Given the description of an element on the screen output the (x, y) to click on. 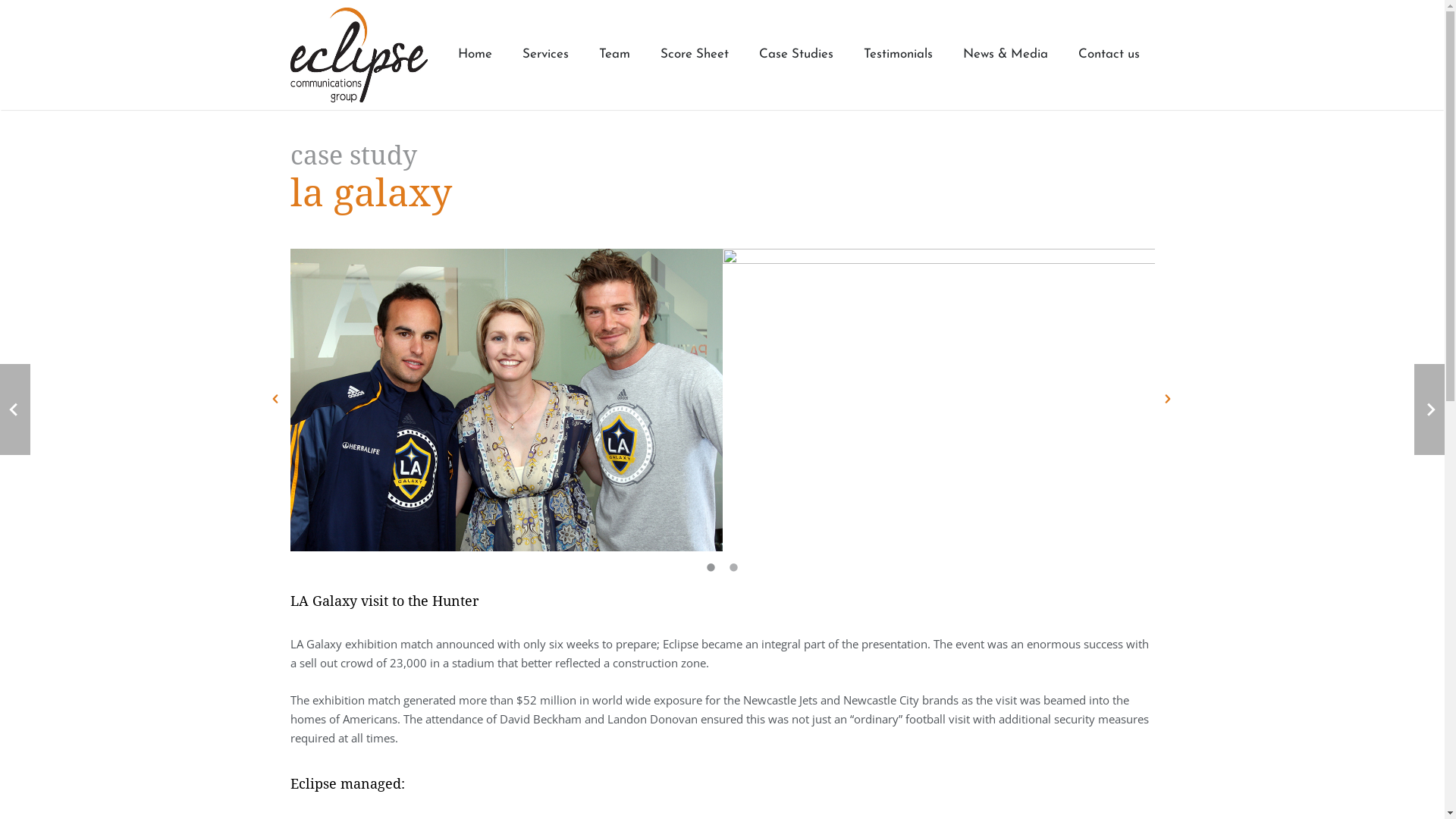
Home Element type: text (474, 54)
Contact us Element type: text (1108, 54)
Case Studies Element type: text (795, 54)
Team Element type: text (614, 54)
Services Element type: text (544, 54)
Score Sheet Element type: text (693, 54)
News & Media Element type: text (1005, 54)
Testimonials Element type: text (897, 54)
